Given the description of an element on the screen output the (x, y) to click on. 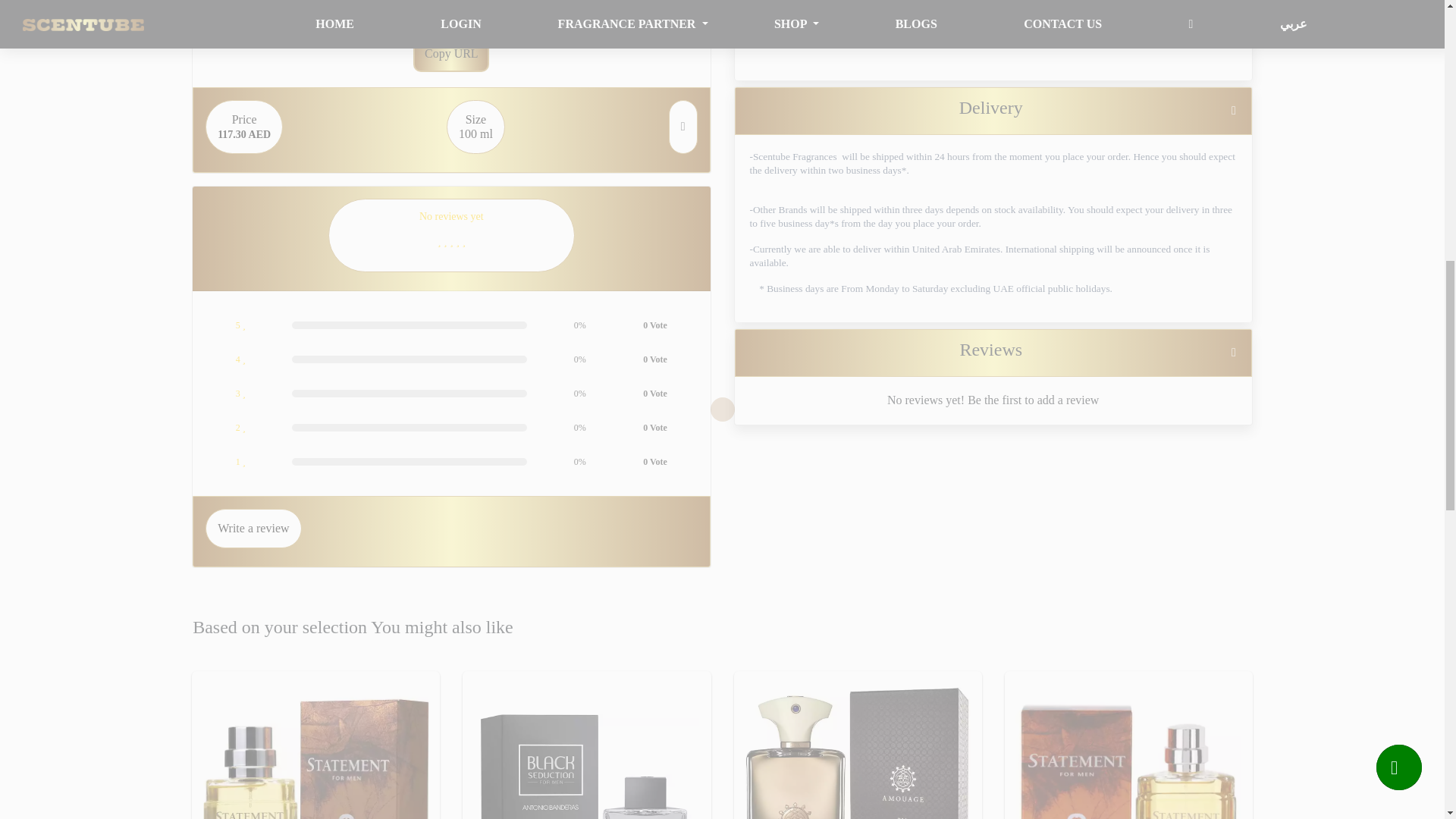
AZZARO (1032, 2)
Copy URL (451, 54)
Write a review (857, 744)
